Given the description of an element on the screen output the (x, y) to click on. 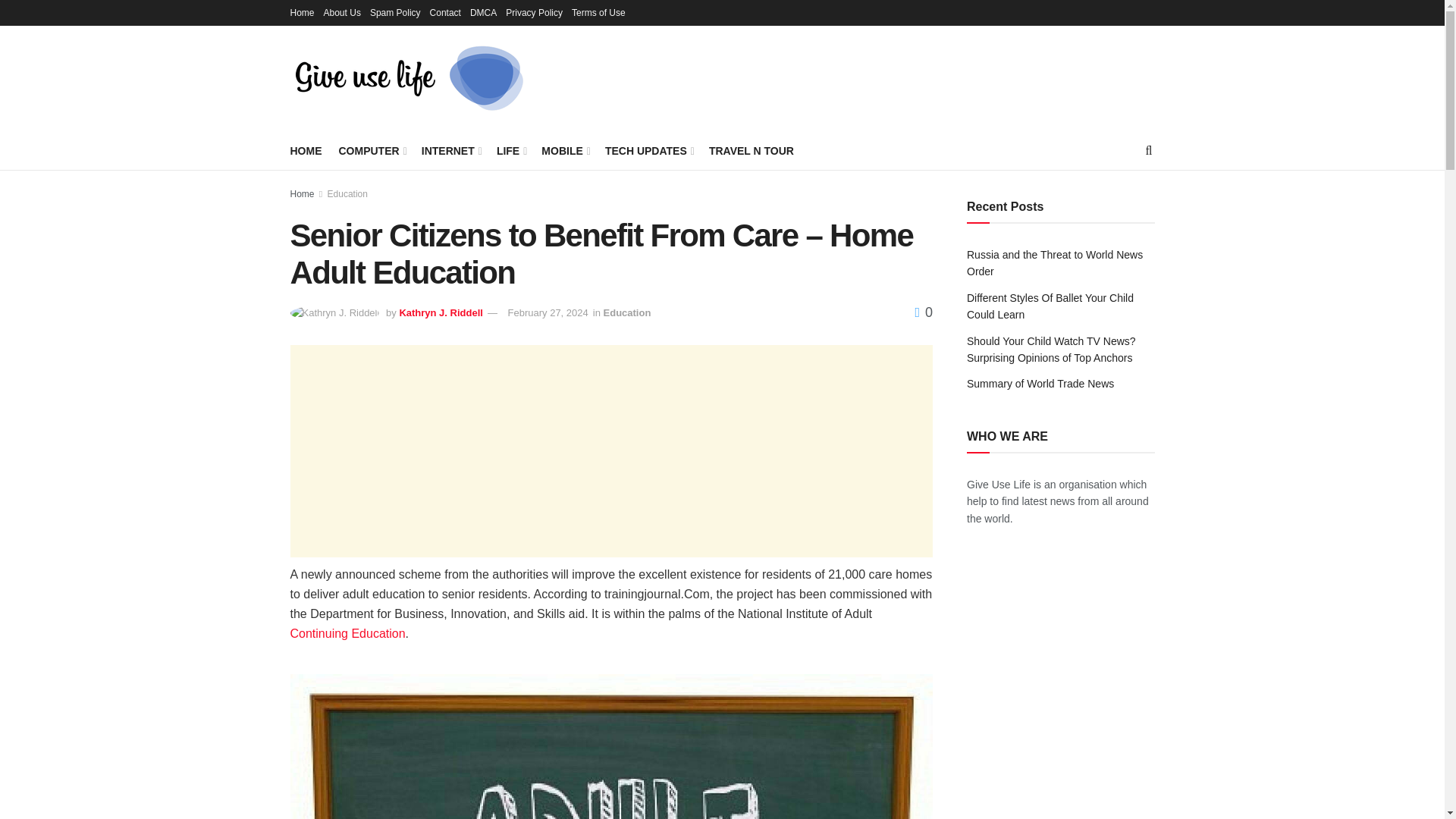
Privacy Policy (533, 12)
LIFE (510, 150)
HOME (305, 150)
Spam Policy (394, 12)
DMCA (483, 12)
About Us (342, 12)
Terms of Use (599, 12)
COMPUTER (370, 150)
Home (301, 12)
Contact (445, 12)
